Given the description of an element on the screen output the (x, y) to click on. 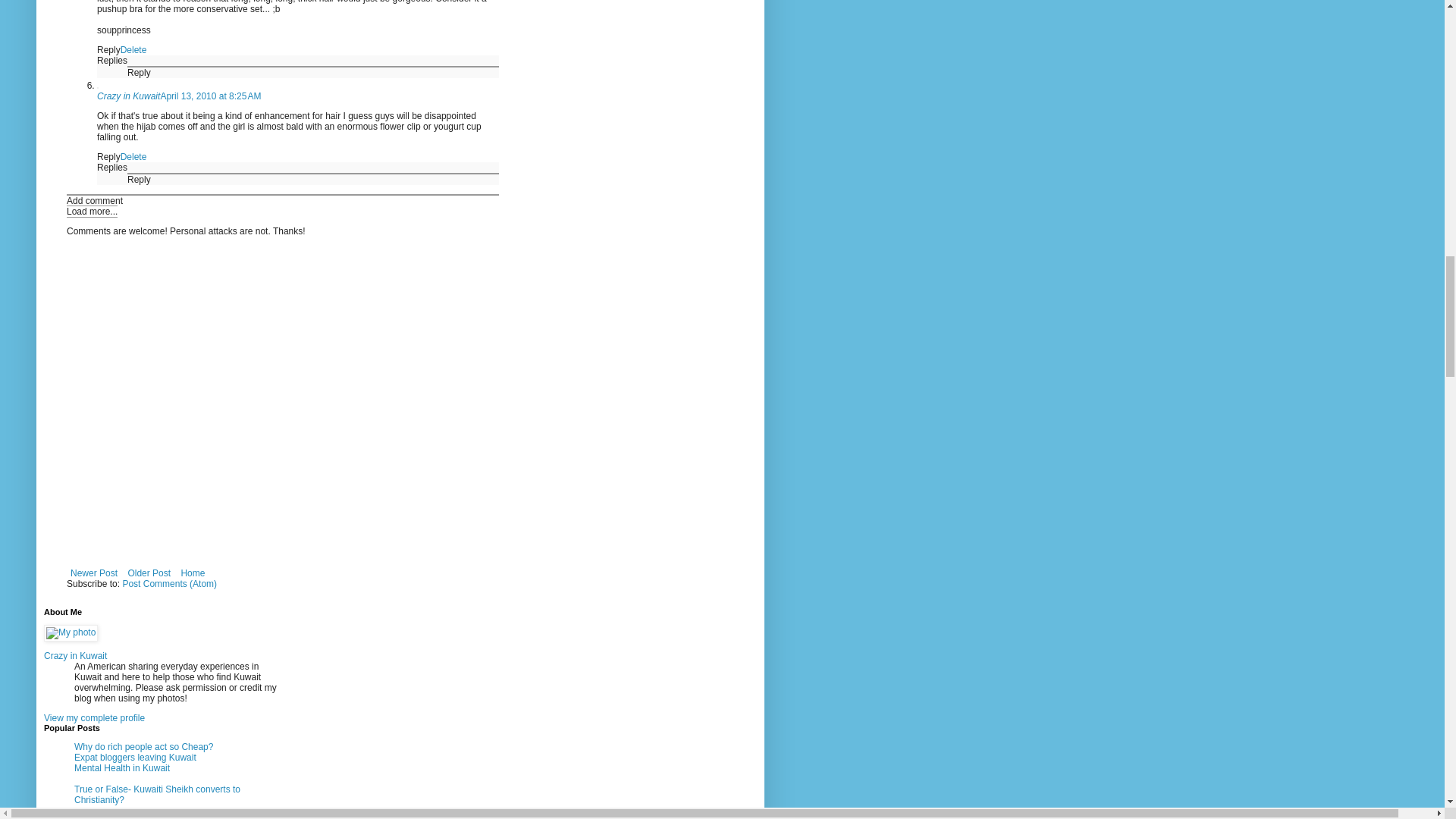
Newer Post (93, 573)
Reply (108, 50)
Older Post (148, 573)
